Given the description of an element on the screen output the (x, y) to click on. 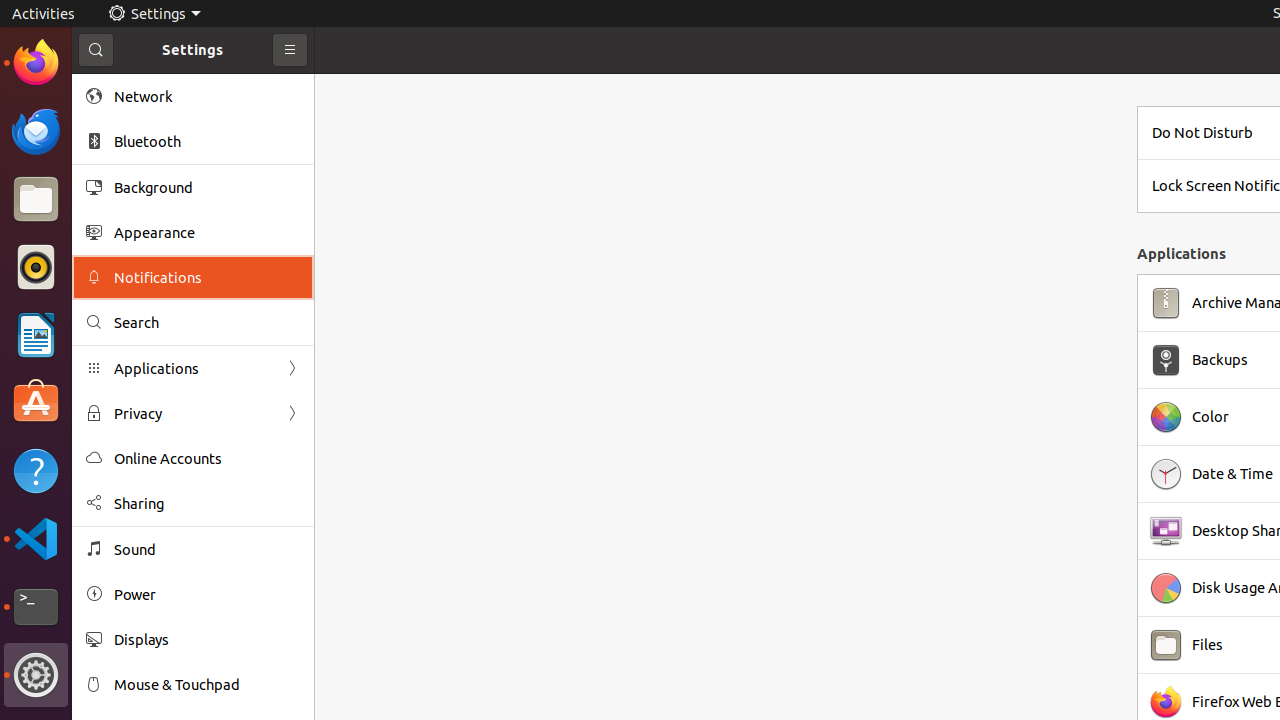
Sound Element type: label (207, 549)
Privacy Element type: label (193, 413)
Settings Element type: push-button (36, 675)
